Given the description of an element on the screen output the (x, y) to click on. 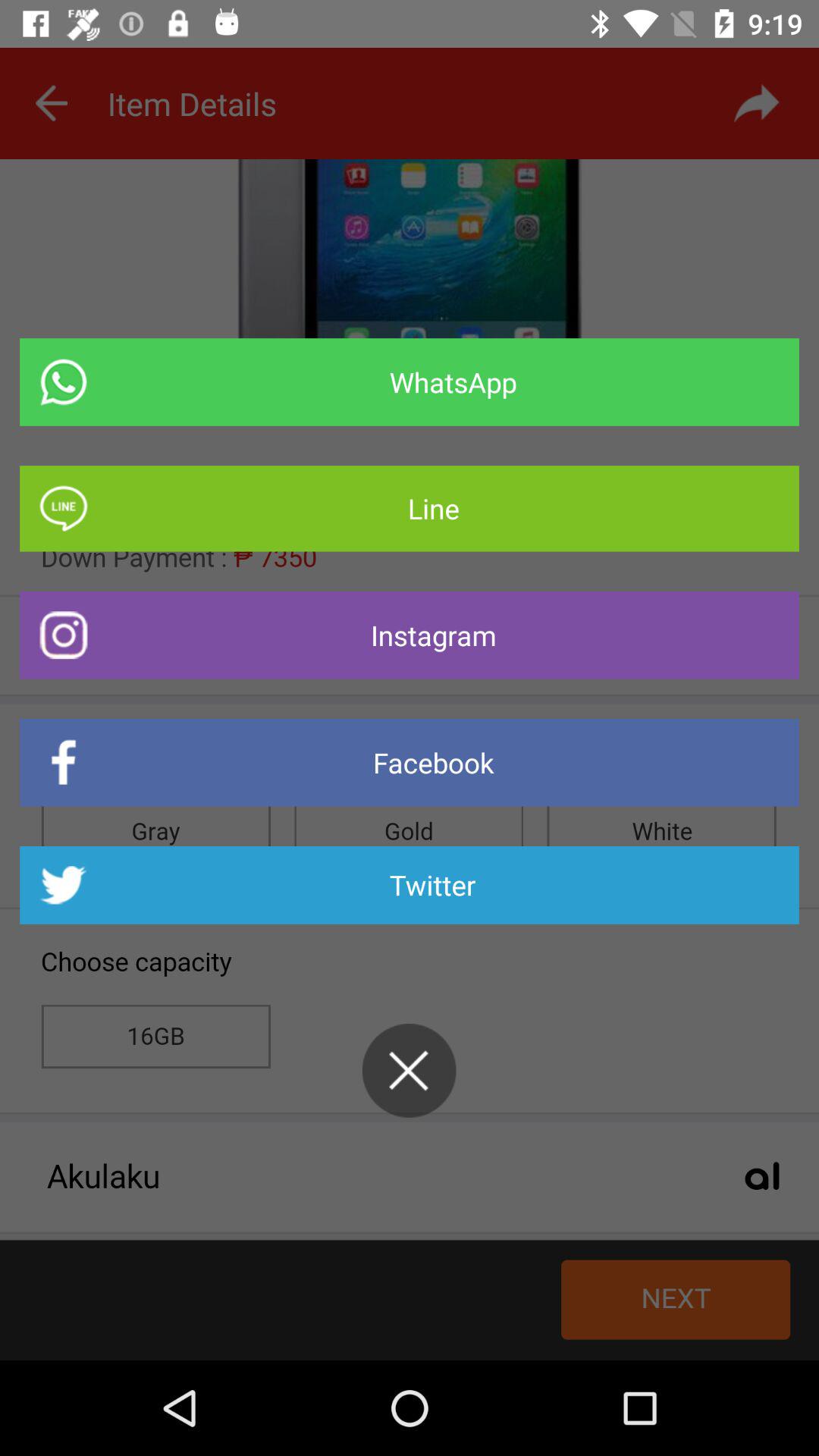
tap the icon below facebook (409, 885)
